Given the description of an element on the screen output the (x, y) to click on. 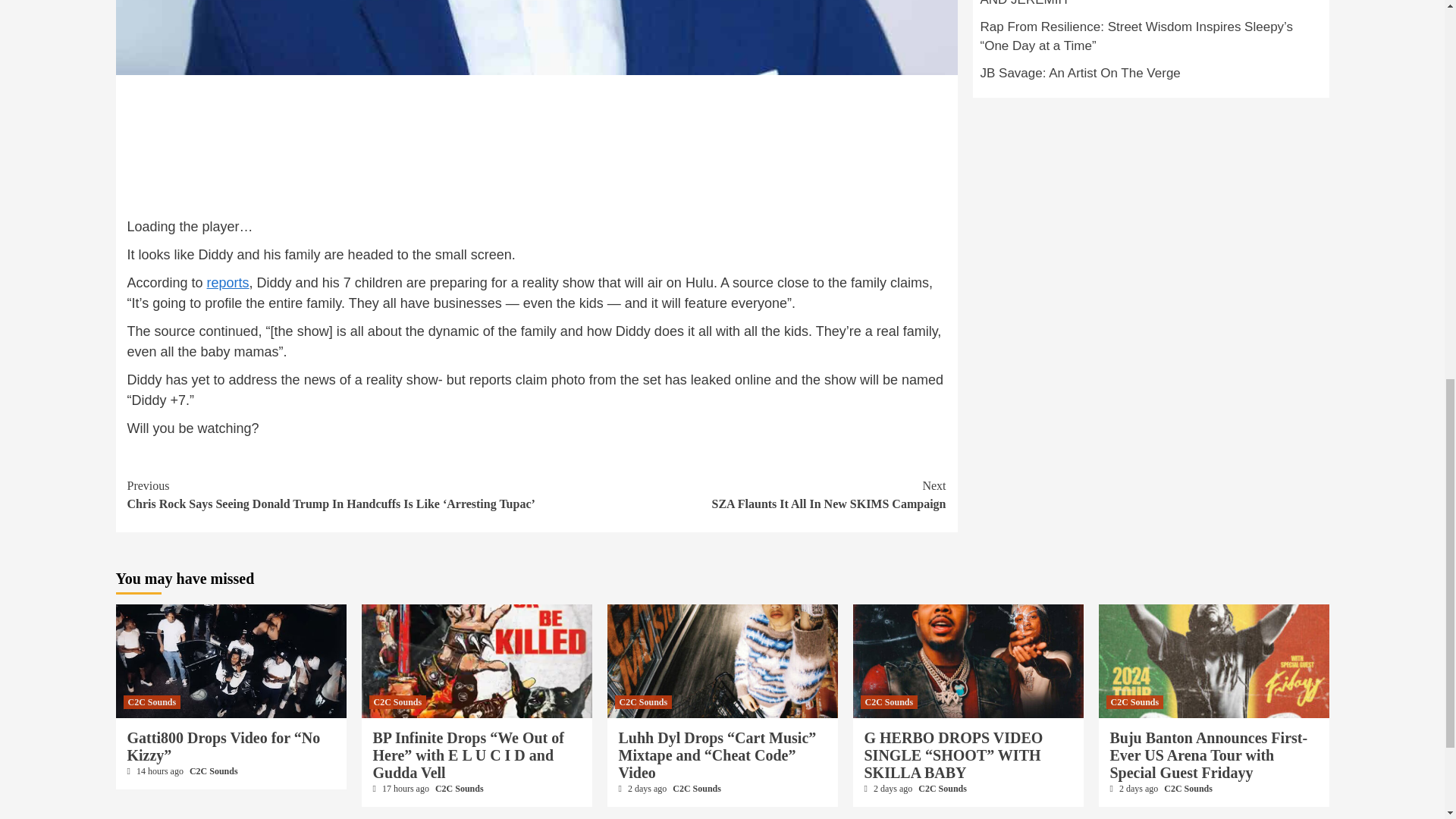
CAMPER DROPS NEW SINGLE WAR WITH ARI LENNOX AND JEREMIH (1149, 8)
C2C Sounds (741, 494)
C2C Sounds (459, 787)
C2C Sounds (151, 702)
JB Savage: An Artist On The Verge (213, 770)
C2C Sounds (1149, 76)
reports (397, 702)
